Given the description of an element on the screen output the (x, y) to click on. 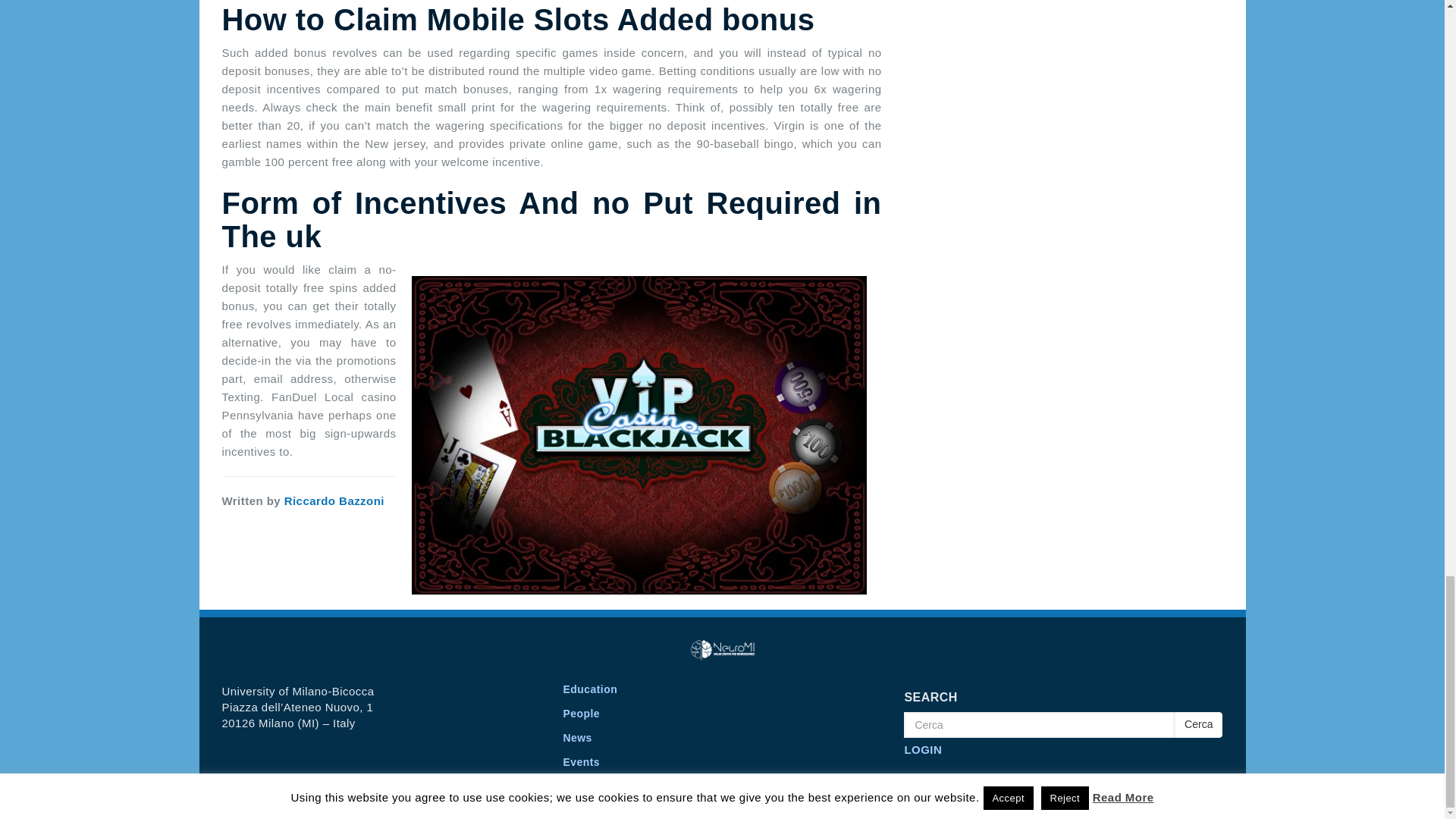
Posts by Riccardo Bazzoni (333, 500)
Cerca (1039, 724)
